Given the description of an element on the screen output the (x, y) to click on. 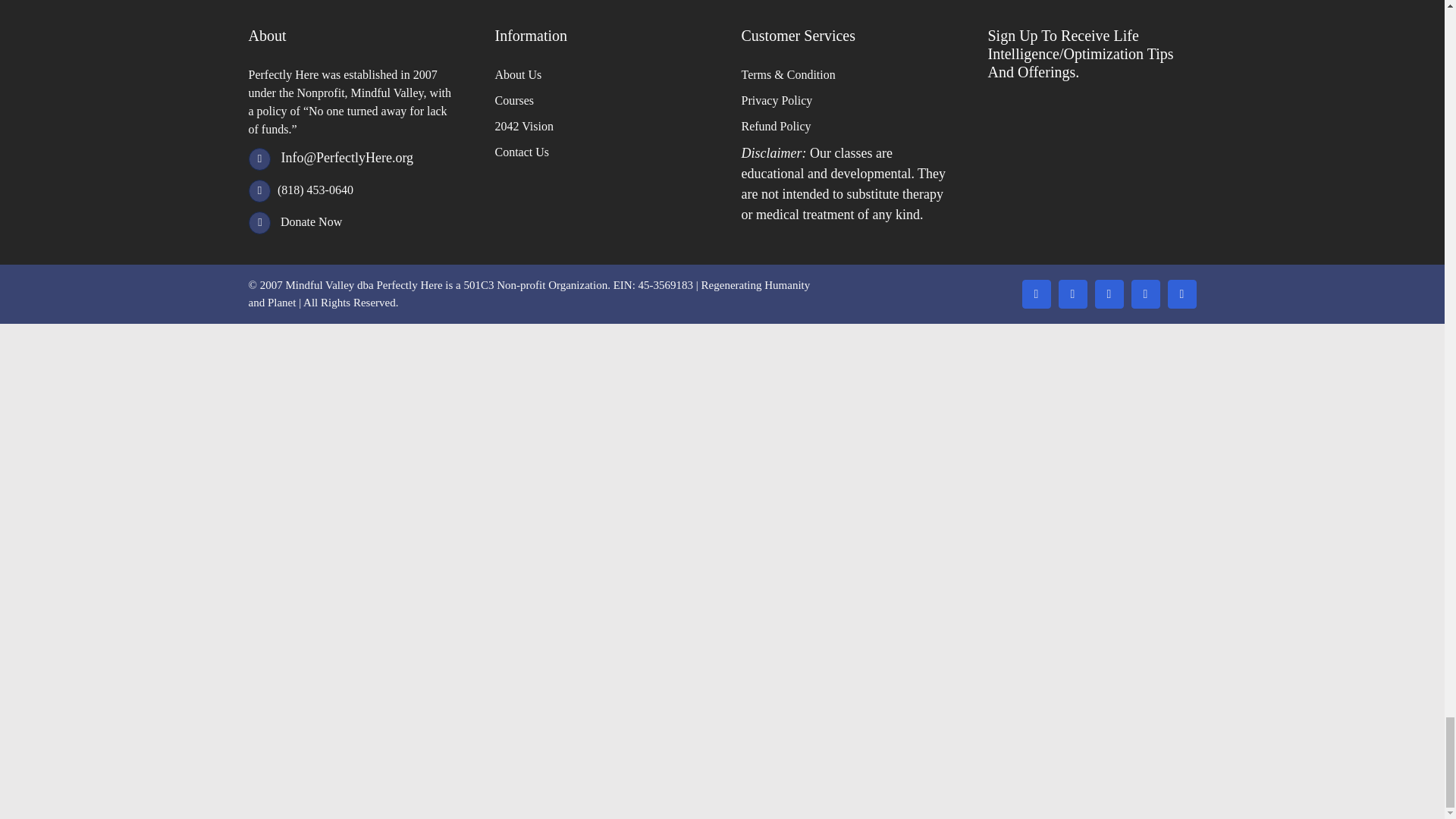
Facebook (1072, 294)
LinkedIn (1109, 294)
Email (1036, 294)
